Given the description of an element on the screen output the (x, y) to click on. 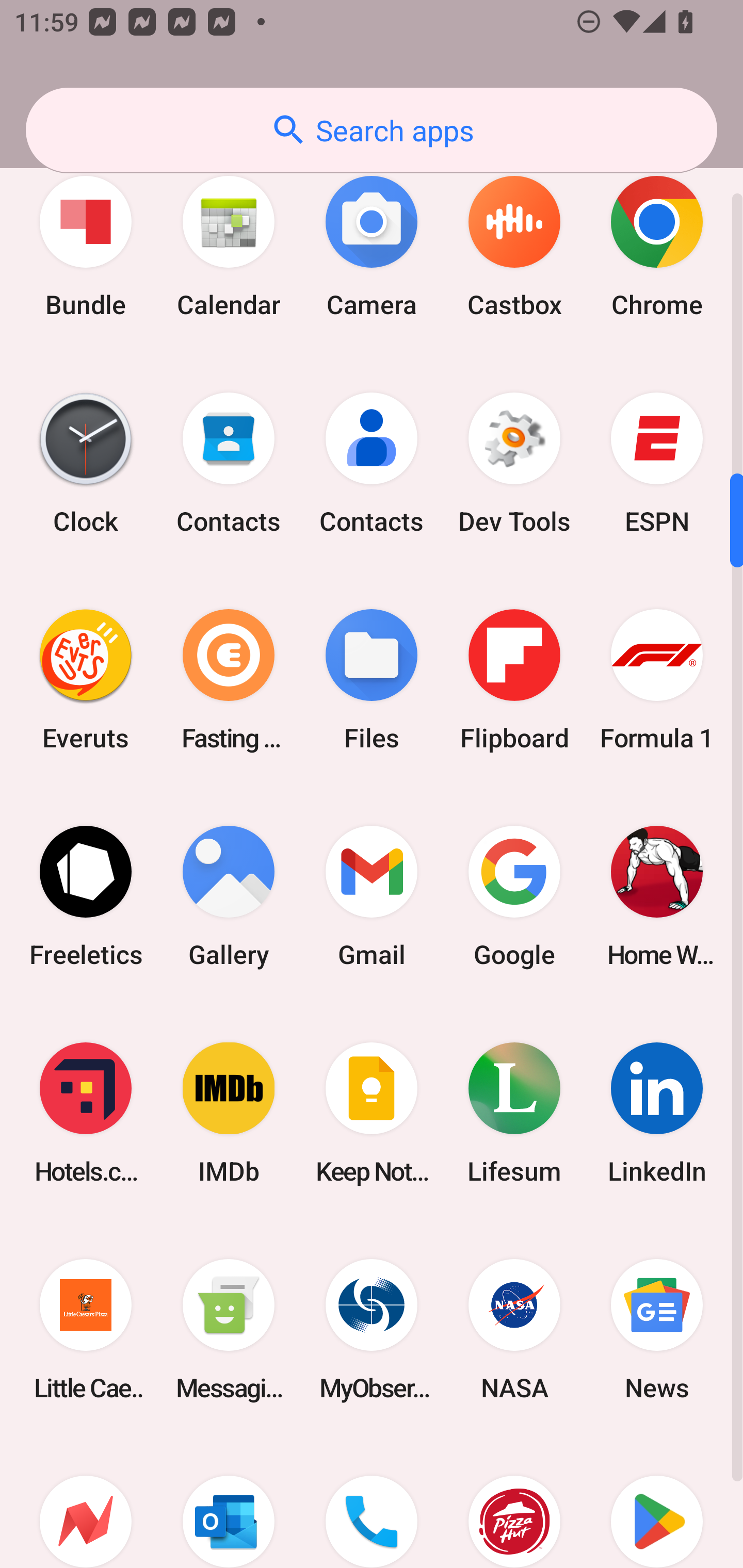
  Search apps (371, 130)
Bundle (85, 245)
Calendar (228, 245)
Camera (371, 245)
Castbox (514, 245)
Chrome (656, 245)
Clock (85, 462)
Contacts (228, 462)
Contacts (371, 462)
Dev Tools (514, 462)
ESPN (656, 462)
Everuts (85, 679)
Fasting Coach (228, 679)
Files (371, 679)
Flipboard (514, 679)
Formula 1 (656, 679)
Freeletics (85, 896)
Gallery (228, 896)
Gmail (371, 896)
Google (514, 896)
Home Workout (656, 896)
Hotels.com (85, 1113)
IMDb (228, 1113)
Keep Notes (371, 1113)
Lifesum (514, 1113)
LinkedIn (656, 1113)
Little Caesars Pizza (85, 1329)
Messaging (228, 1329)
MyObservatory (371, 1329)
NASA (514, 1329)
News (656, 1329)
NewsBreak (85, 1502)
Outlook (228, 1502)
Phone (371, 1502)
Pizza Hut HK & Macau (514, 1502)
Play Store (656, 1502)
